Given the description of an element on the screen output the (x, y) to click on. 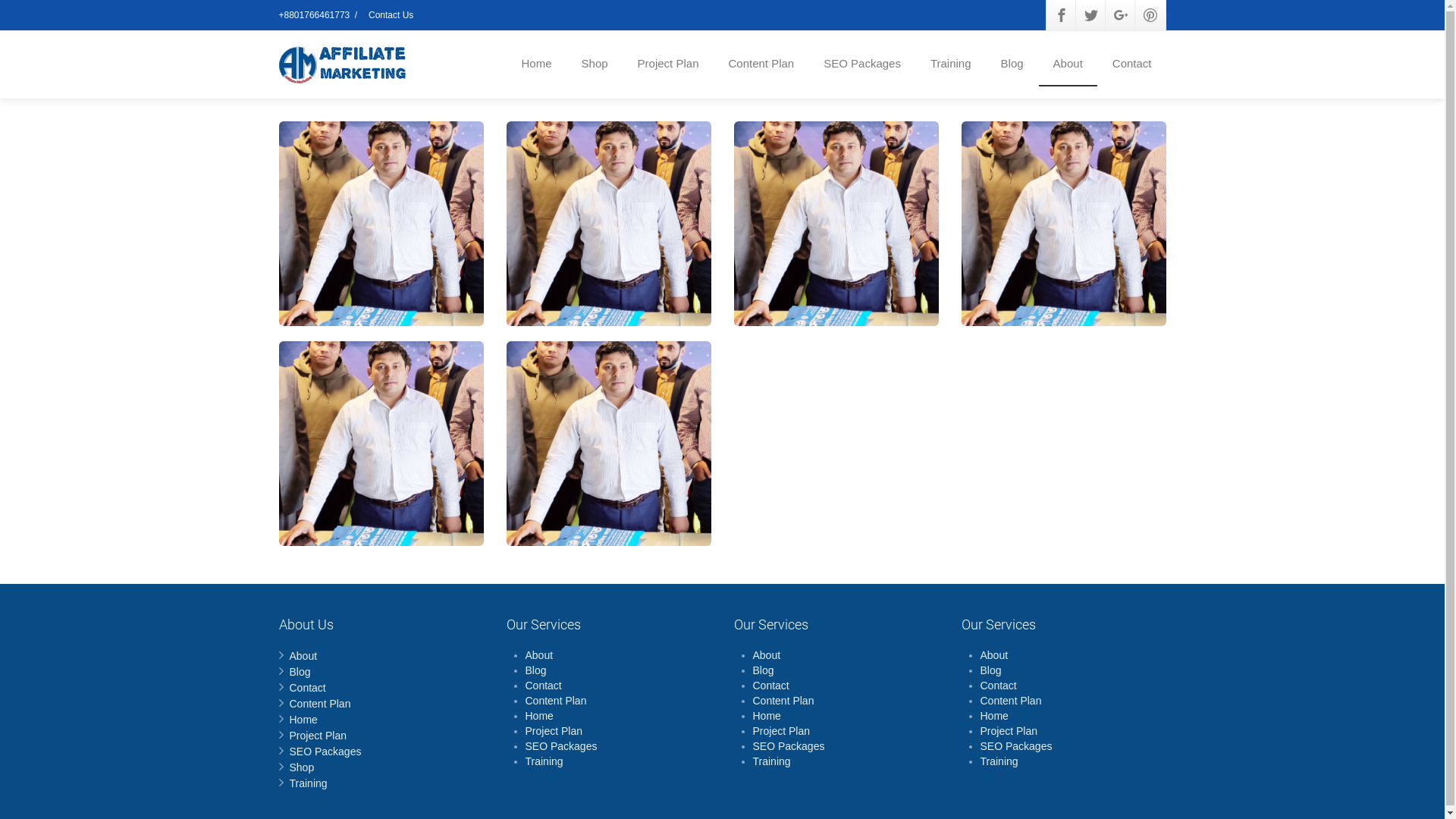
Contact Element type: text (770, 685)
About Element type: text (538, 655)
About Element type: text (303, 655)
Contact Element type: text (542, 685)
Home Element type: text (536, 64)
Home Element type: text (538, 715)
Blog Element type: text (762, 670)
Project Plan Element type: text (780, 730)
Blog Element type: text (299, 671)
Contact Element type: text (1132, 64)
Training Element type: text (998, 761)
Contact Element type: text (997, 685)
Training Element type: text (771, 761)
Home Element type: text (766, 715)
Shop Element type: text (301, 767)
Google Plus Element type: hover (1120, 15)
Home Element type: text (993, 715)
Blog Element type: text (990, 670)
Project Plan Element type: text (552, 730)
Home Element type: text (303, 719)
About Element type: text (993, 655)
Contact Element type: text (307, 687)
SEO Packages Element type: text (1015, 746)
Shop Element type: text (594, 64)
Training Element type: text (543, 761)
Training Element type: text (308, 783)
Blog Element type: text (535, 670)
Facebook Element type: hover (1061, 15)
Blog Element type: text (1012, 64)
Training Element type: text (950, 64)
+8801766461773 Element type: text (314, 14)
Content Plan Element type: text (760, 64)
About Element type: text (766, 655)
Project Plan Element type: text (668, 64)
Twitter Element type: hover (1090, 15)
SEO Packages Element type: text (862, 64)
SEO Packages Element type: text (560, 746)
Content Plan Element type: text (782, 700)
Content Plan Element type: text (555, 700)
Content Plan Element type: text (320, 703)
Pinterest Element type: hover (1149, 15)
SEO Packages Element type: text (788, 746)
About Element type: text (1067, 64)
Project Plan Element type: text (1007, 730)
Project Plan Element type: text (317, 735)
Content Plan Element type: text (1010, 700)
Contact Us Element type: text (390, 14)
SEO Packages Element type: text (325, 751)
